Given the description of an element on the screen output the (x, y) to click on. 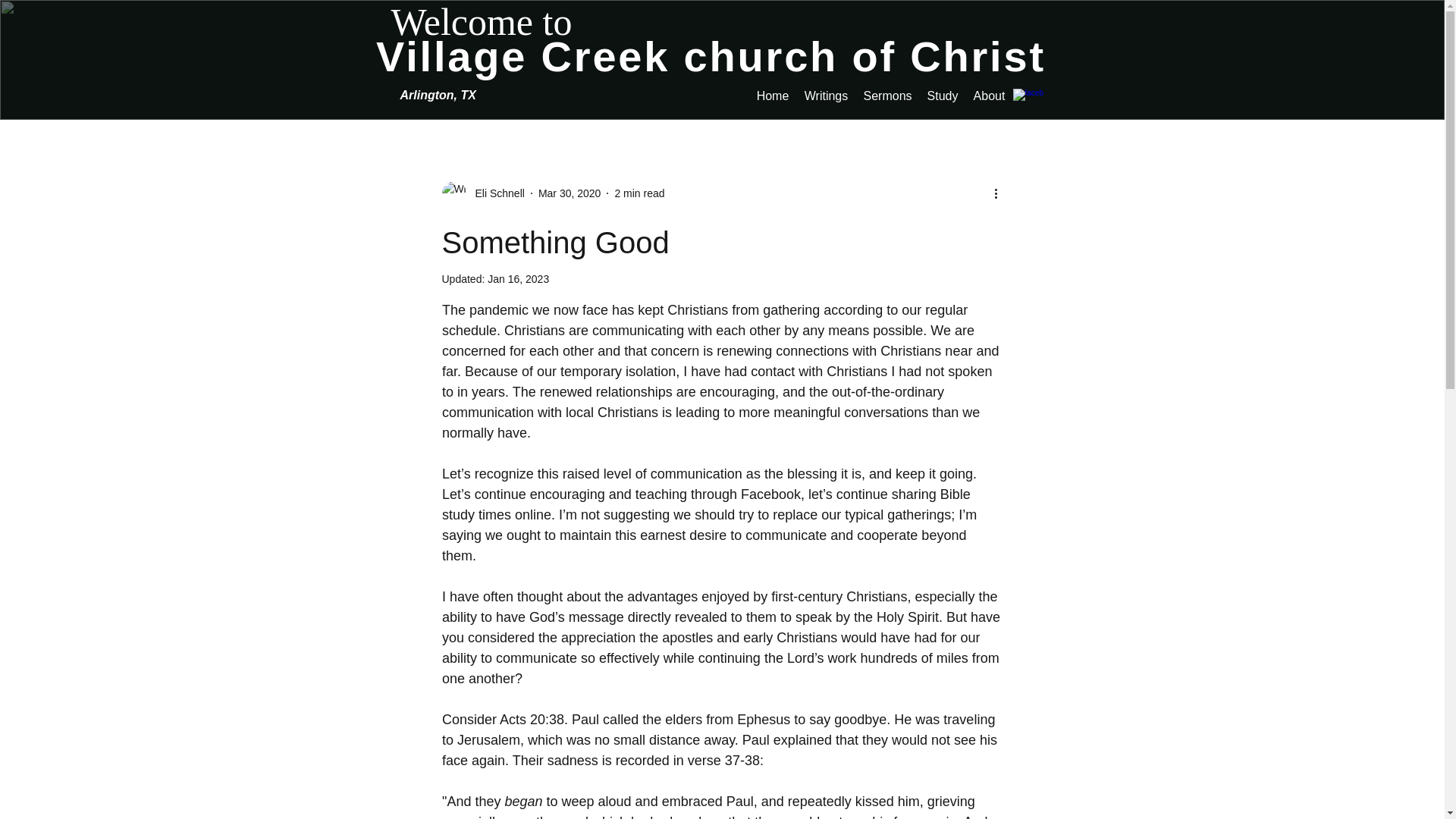
About (989, 96)
Village Creek church of Christ (710, 56)
Eli Schnell (494, 192)
Jan 16, 2023 (517, 278)
Home (772, 96)
Mar 30, 2020 (569, 192)
Writings (826, 96)
2 min read (638, 192)
Sermons (887, 96)
Study (941, 96)
